Given the description of an element on the screen output the (x, y) to click on. 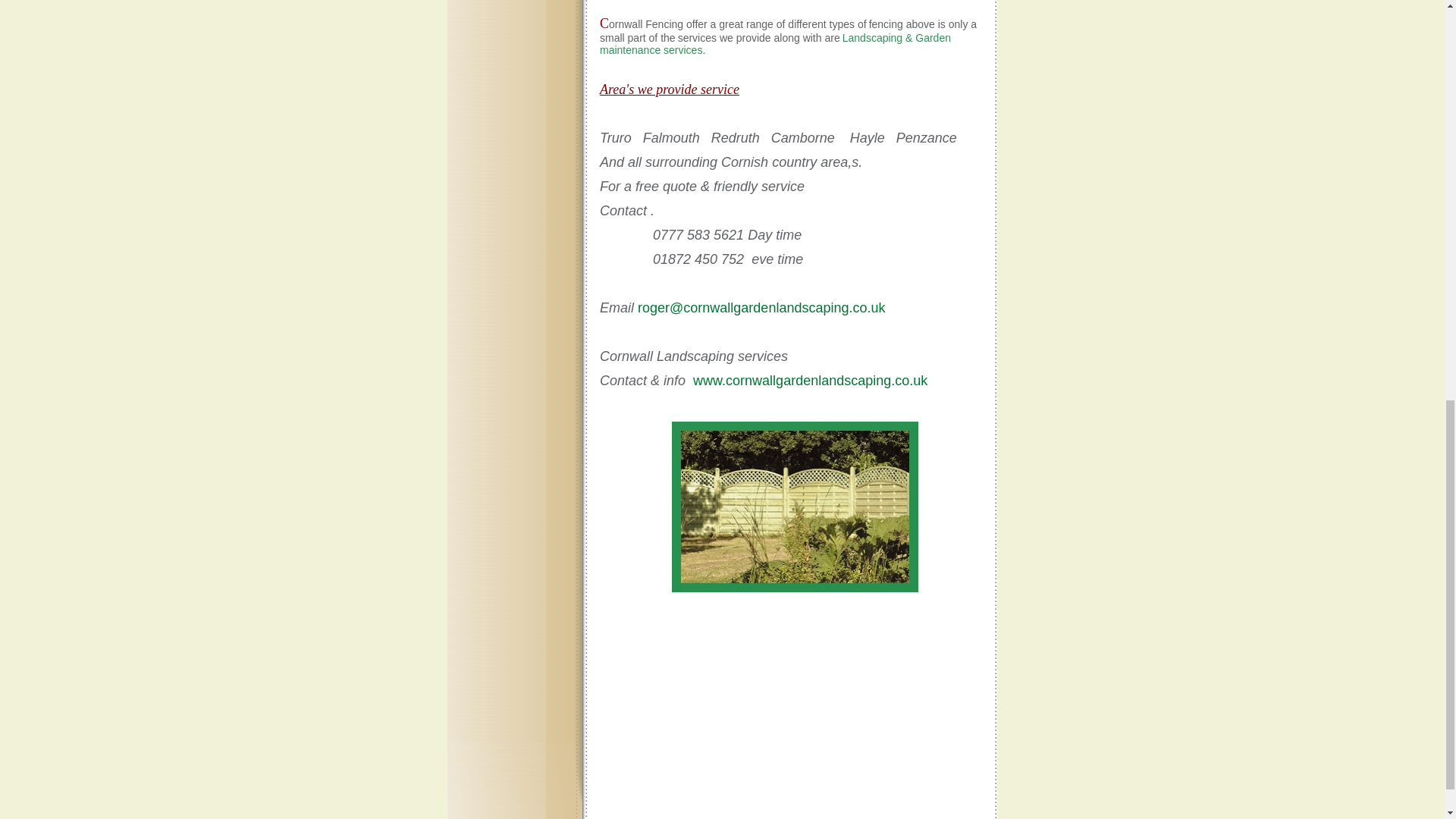
www.cornwallgardenlandscaping.co.uk (810, 380)
